Given the description of an element on the screen output the (x, y) to click on. 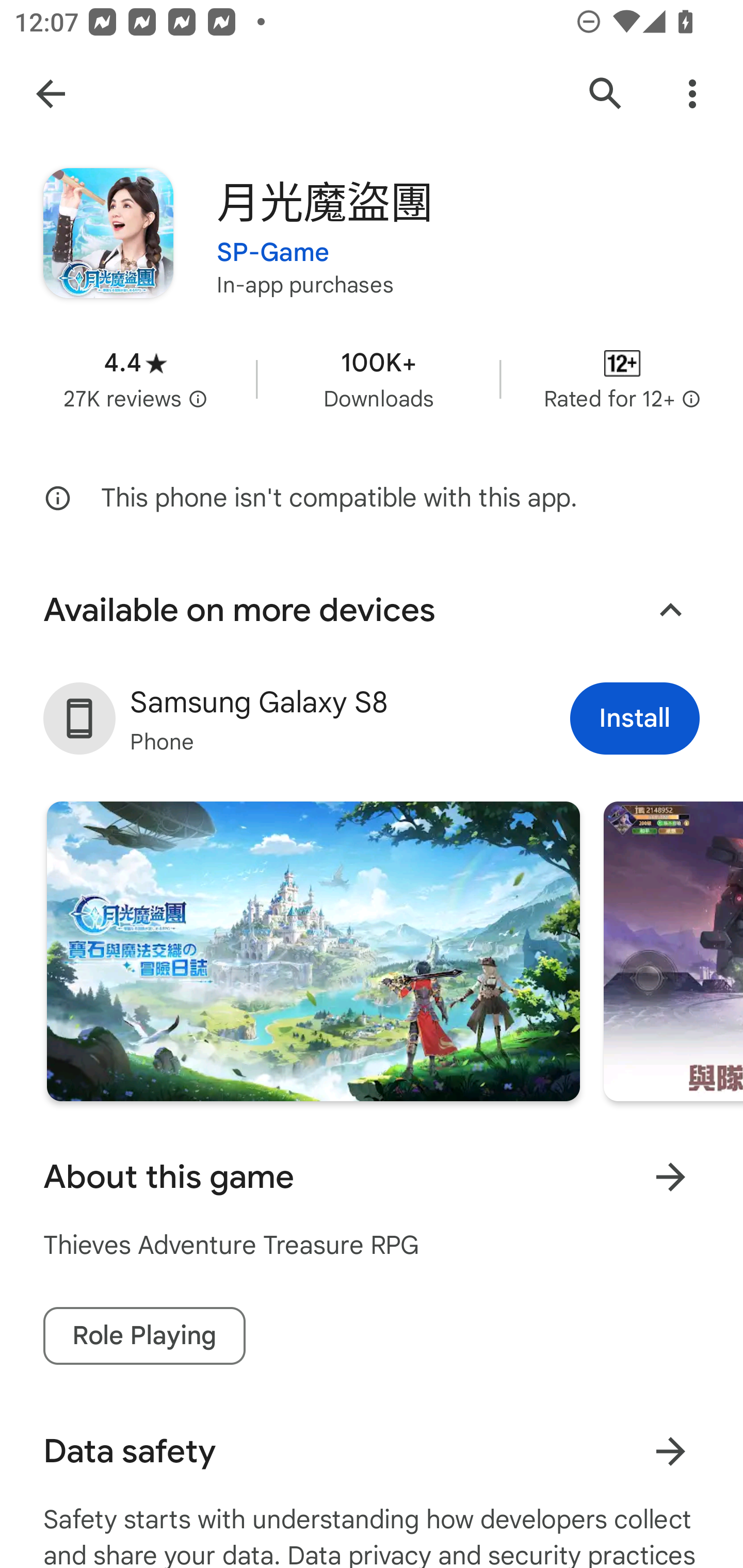
Navigate up (50, 93)
Search Google Play (605, 93)
More Options (692, 93)
SP-Game (272, 240)
Average rating 4.4 stars in 27 thousand reviews (135, 379)
Content rating Rated for 12+ (622, 379)
Available on more devices Collapse (371, 609)
Collapse (670, 610)
Install (634, 718)
Screenshot "1" of "6" (313, 950)
About this game Learn more About this game (371, 1176)
Learn more About this game (670, 1176)
Role Playing tag (144, 1335)
Data safety Learn more about data safety (371, 1451)
Learn more about data safety (670, 1451)
